Given the description of an element on the screen output the (x, y) to click on. 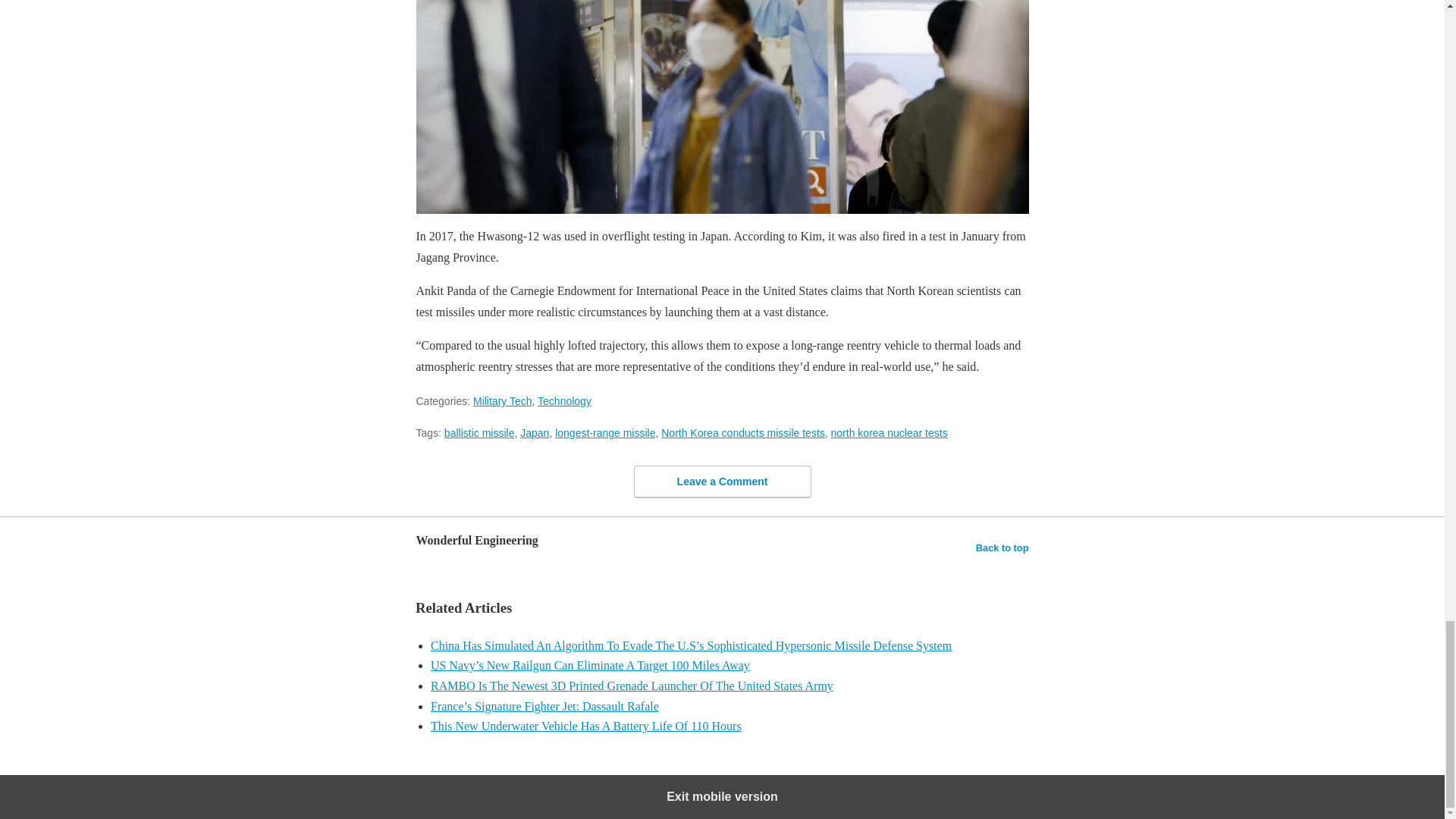
Japan (533, 432)
Leave a Comment (721, 481)
north korea nuclear tests (889, 432)
Military Tech (502, 400)
longest-range missile (604, 432)
Technology (564, 400)
ballistic missile (479, 432)
This New Underwater Vehicle Has A Battery Life Of 110 Hours (729, 726)
Back to top (1002, 547)
North Korea conducts missile tests (743, 432)
